Given the description of an element on the screen output the (x, y) to click on. 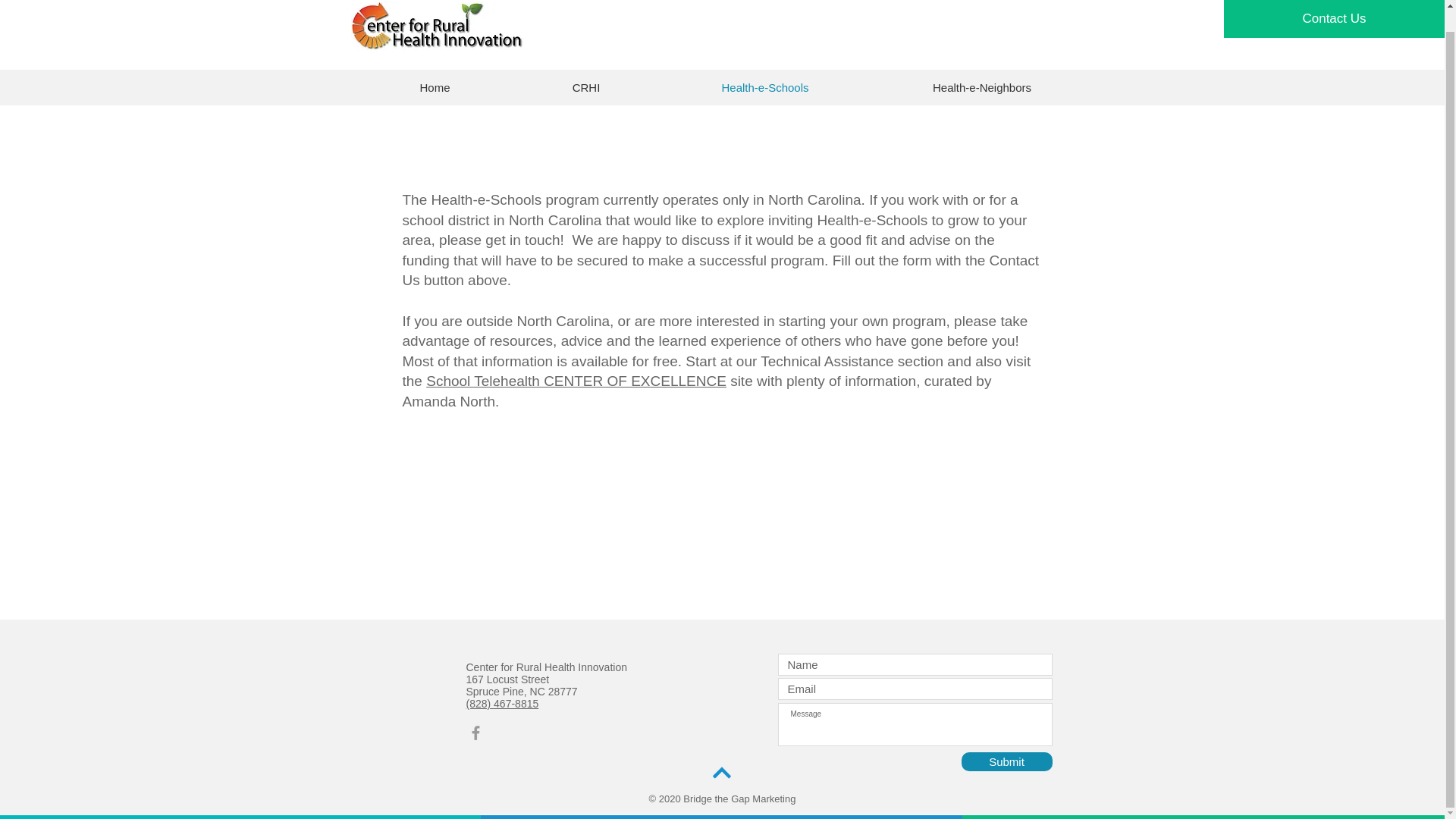
School Telehealth CENTER OF EXCELLENCE (576, 381)
Home (435, 87)
Health-e-Neighbors (982, 87)
CRHI (586, 87)
Submit (1006, 761)
Health-e-Schools (764, 87)
